Given the description of an element on the screen output the (x, y) to click on. 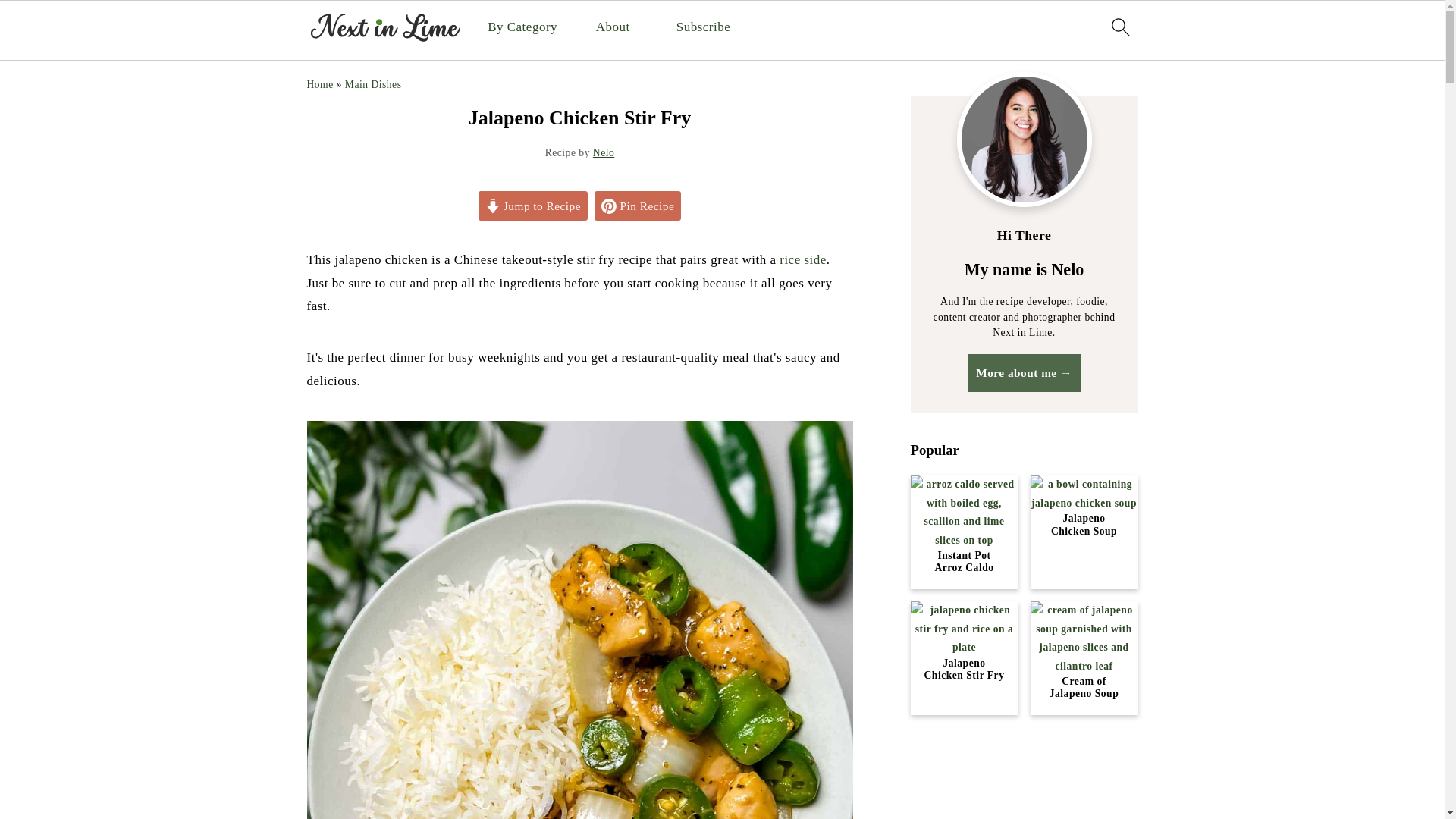
Pin Recipe (637, 205)
About (612, 27)
Subscribe (703, 27)
rice side (802, 259)
Main Dishes (373, 84)
Jump to Recipe (533, 205)
Nelo (603, 152)
Jump to Recipe (533, 205)
Home (319, 84)
By Category (522, 27)
search icon (1119, 26)
